Given the description of an element on the screen output the (x, y) to click on. 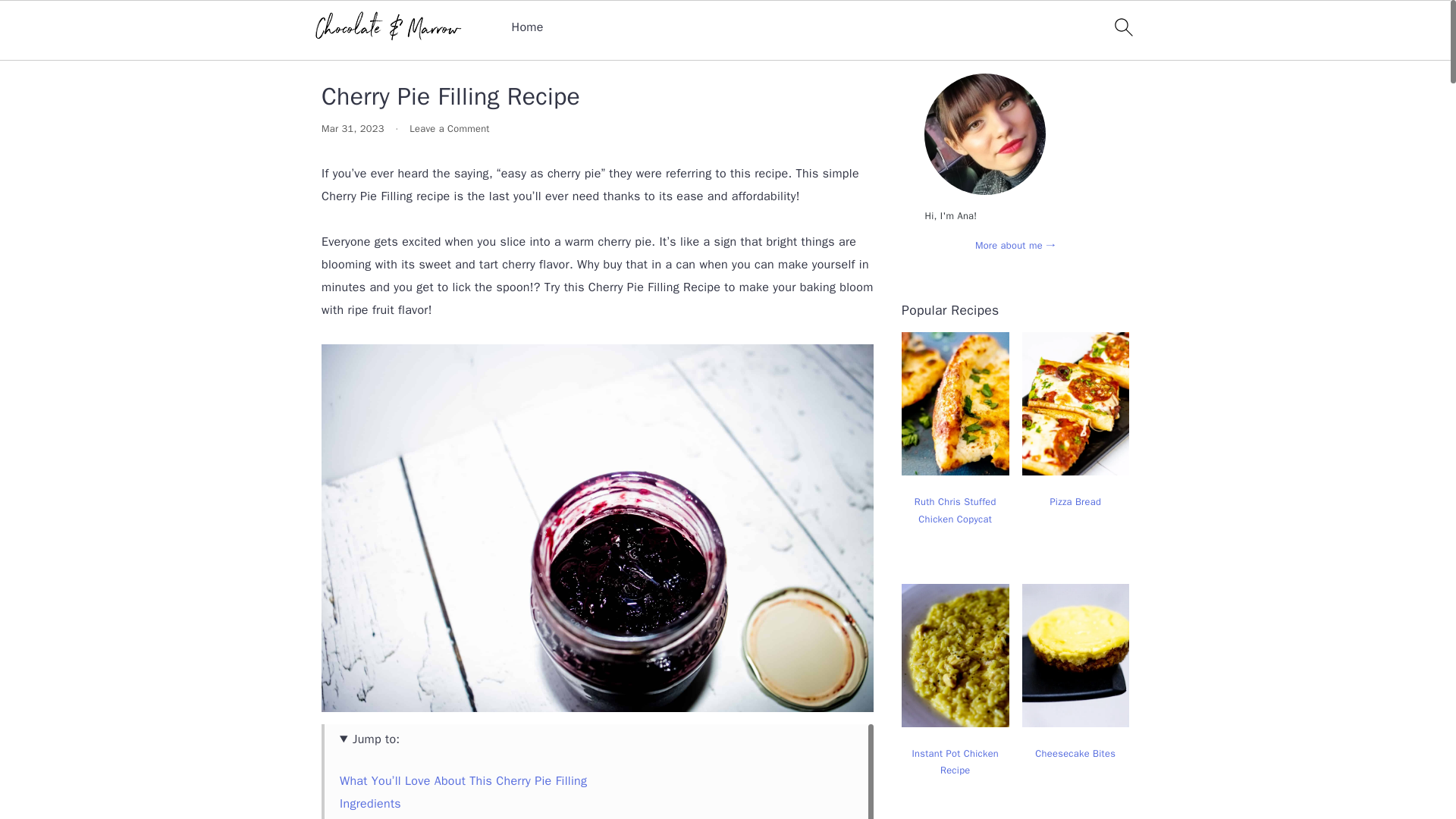
Recipes (388, 46)
Leave a Comment (449, 128)
Ingredients (370, 803)
Home (527, 26)
Home (337, 46)
search icon (1122, 26)
